Given the description of an element on the screen output the (x, y) to click on. 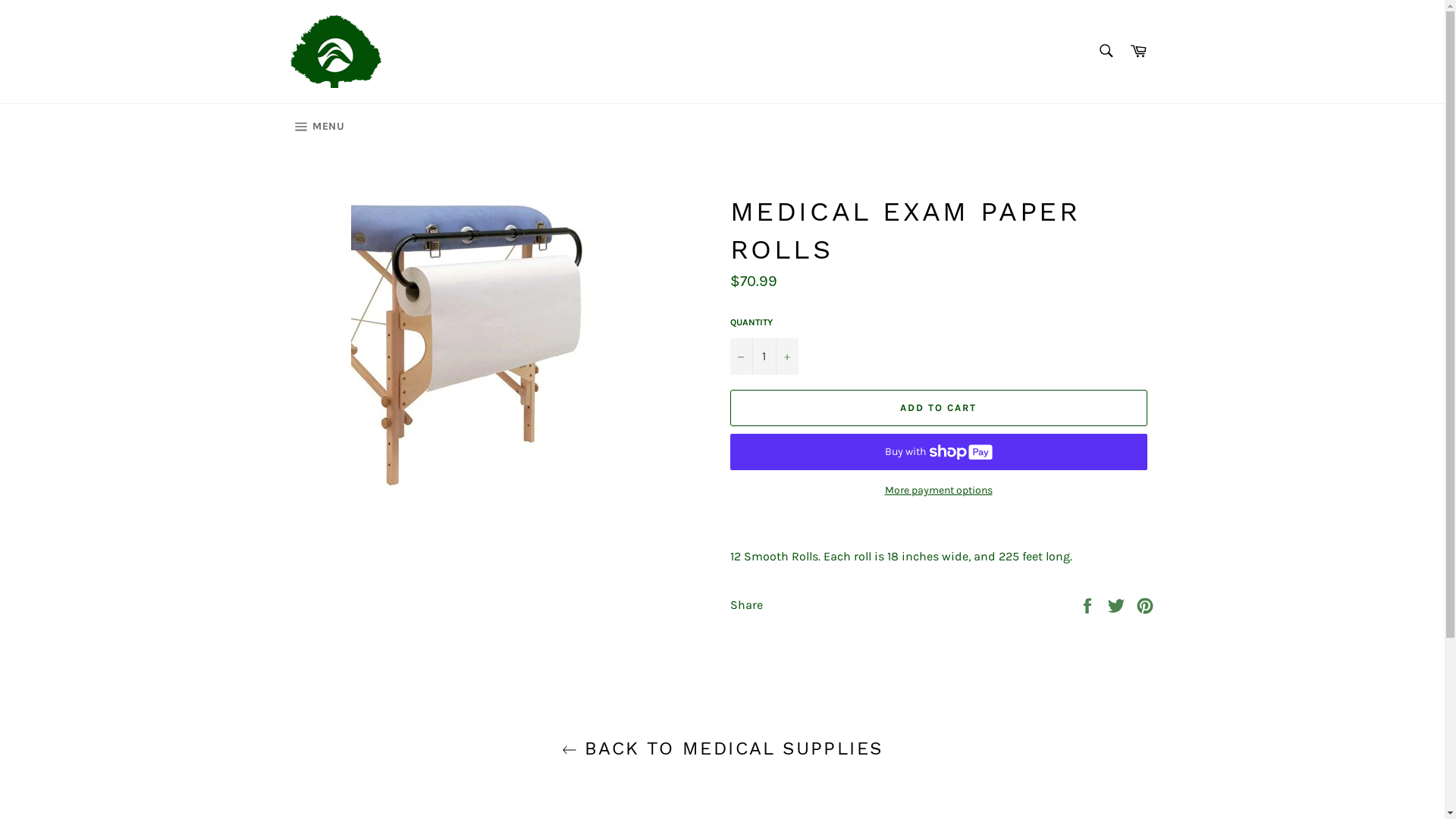
MENU
SITE NAVIGATION Element type: text (316, 126)
Pin on Pinterest Element type: text (1144, 603)
Search Element type: text (1105, 50)
+ Element type: text (786, 356)
Share on Facebook Element type: text (1088, 603)
Tweet on Twitter Element type: text (1117, 603)
ADD TO CART Element type: text (937, 407)
More payment options Element type: text (937, 490)
Cart Element type: text (1138, 51)
BACK TO MEDICAL SUPPLIES Element type: text (722, 748)
